Given the description of an element on the screen output the (x, y) to click on. 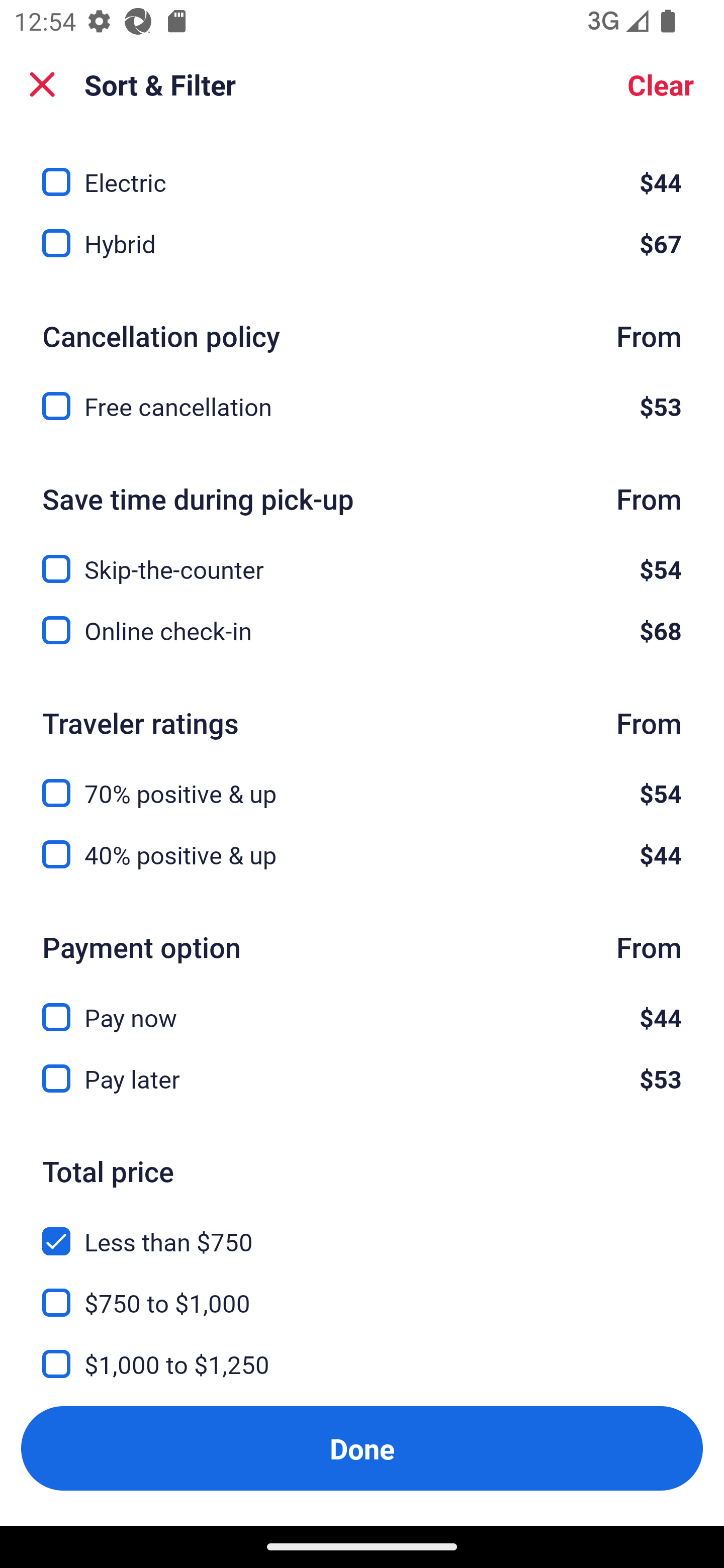
Close Sort and Filter (42, 84)
Clear (660, 84)
Electric, $44 Electric $44 (361, 170)
Hybrid, $67 Hybrid $67 (361, 243)
Free cancellation, $53 Free cancellation $53 (361, 405)
Skip-the-counter, $54 Skip-the-counter $54 (361, 557)
Online check-in, $68 Online check-in $68 (361, 630)
70% positive & up, $54 70% positive & up $54 (361, 781)
40% positive & up, $44 40% positive & up $44 (361, 854)
Pay now, $44 Pay now $44 (361, 1005)
Pay later, $53 Pay later $53 (361, 1078)
Less than $750, Less than $750 (361, 1229)
$750 to $1,000, $750 to $1,000 (361, 1290)
$1,000 to $1,250, $1,000 to $1,250 (361, 1351)
Apply and close Sort and Filter Done (361, 1448)
